Given the description of an element on the screen output the (x, y) to click on. 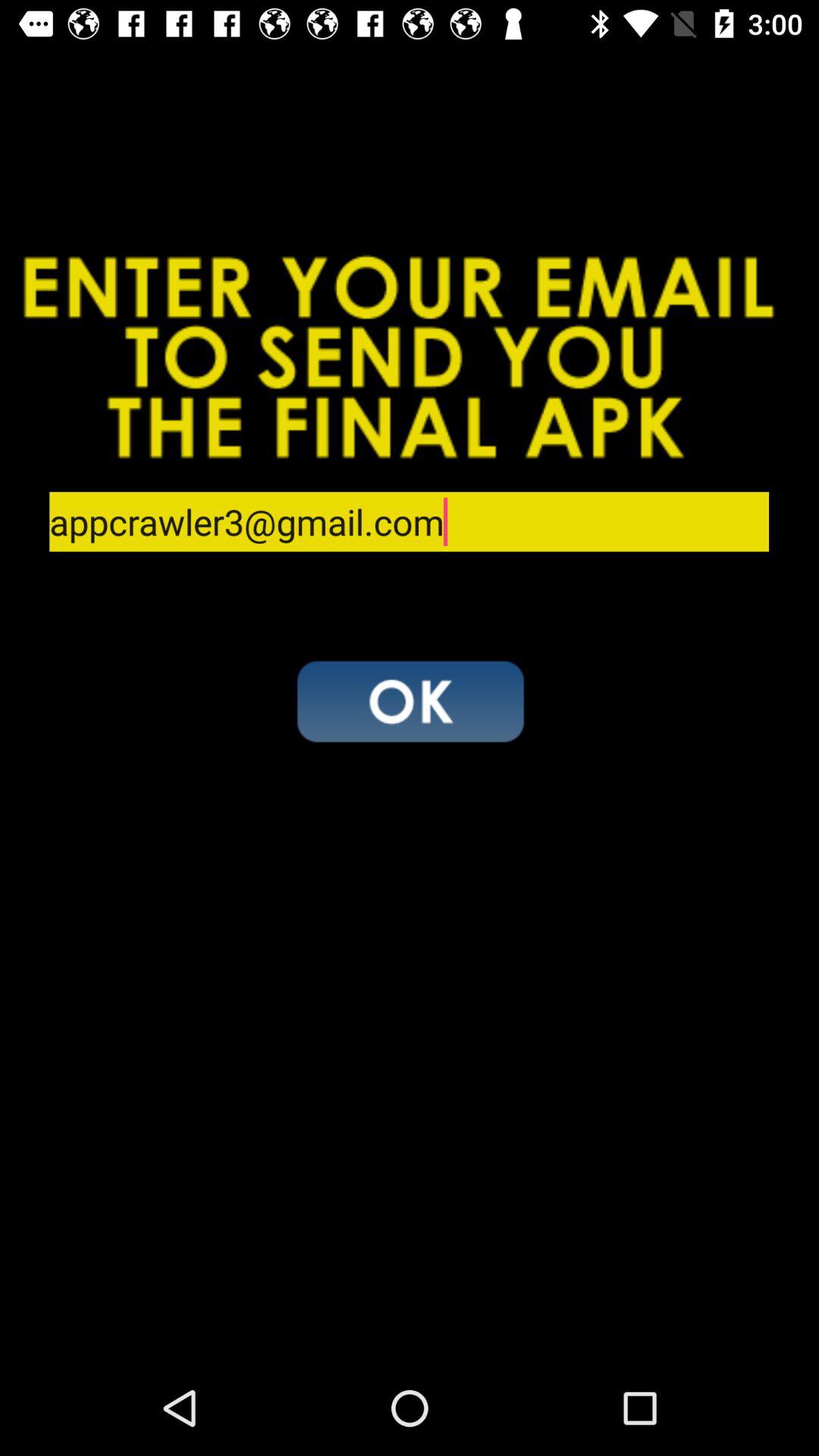
ok (409, 700)
